Given the description of an element on the screen output the (x, y) to click on. 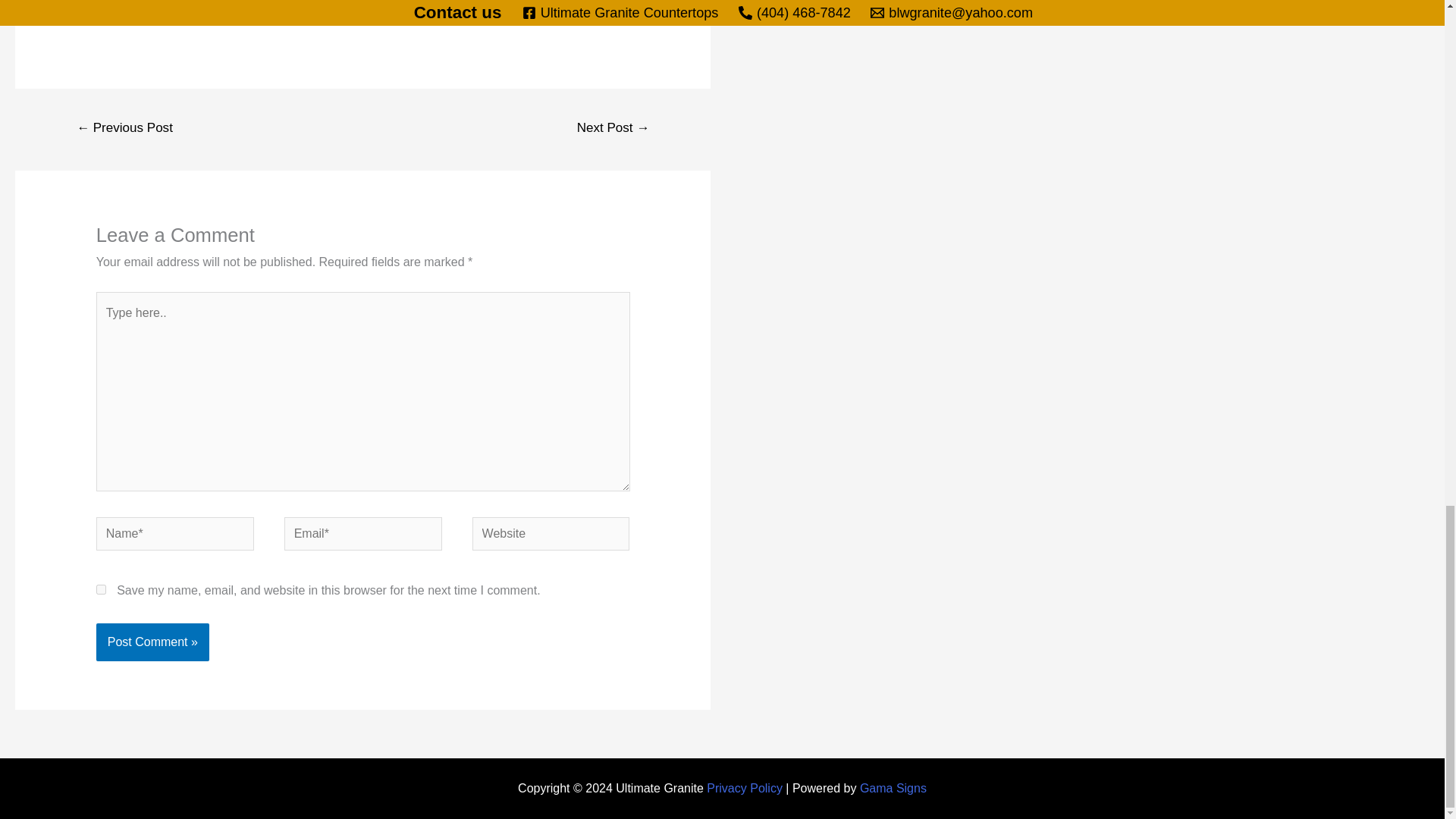
Gama Signs (893, 788)
Privacy Policy (744, 788)
yes (101, 589)
Gama Signs (893, 788)
